Given the description of an element on the screen output the (x, y) to click on. 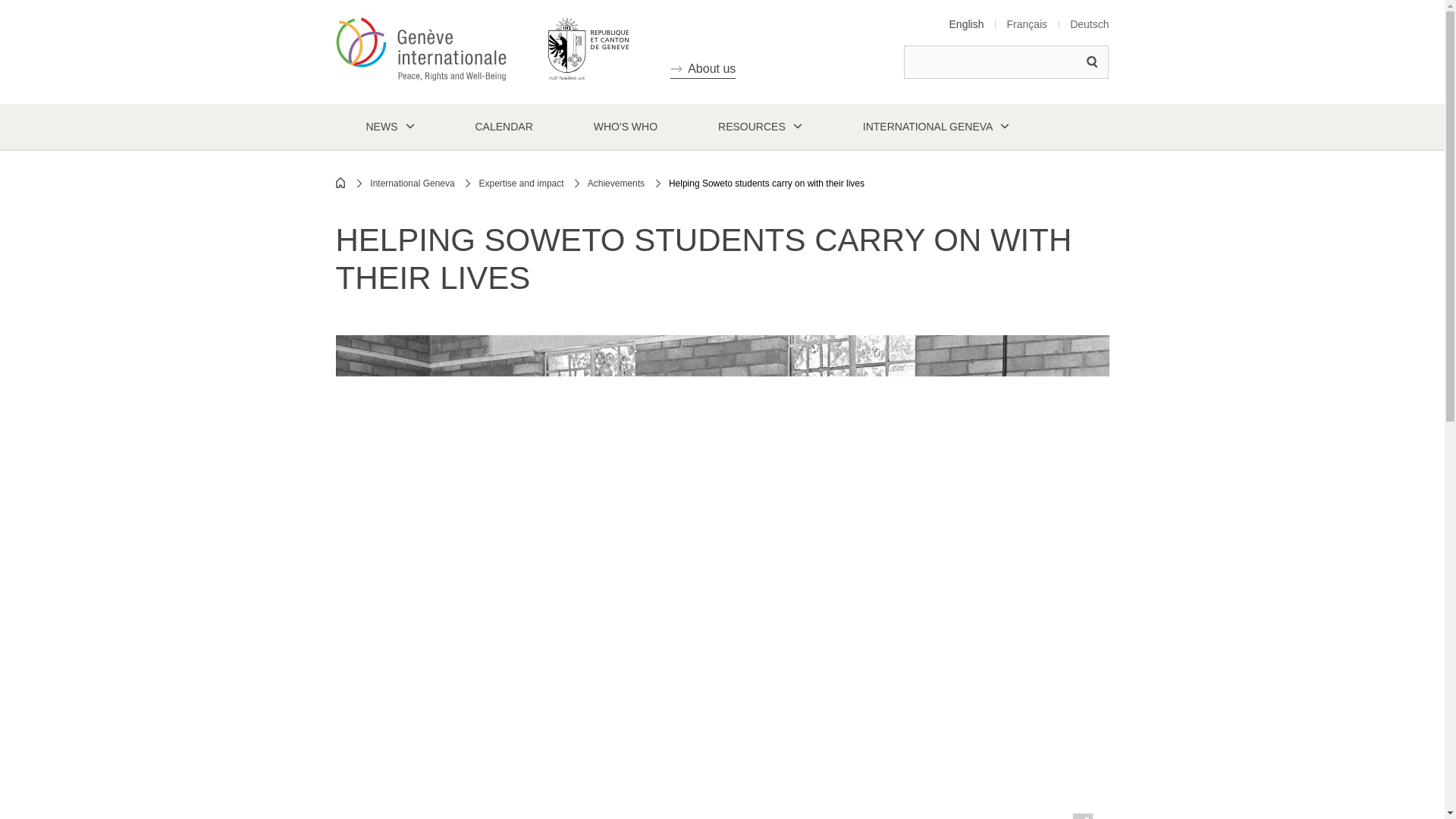
NEWS (389, 126)
English (966, 24)
RESOURCES (759, 126)
Search (1092, 62)
About us (702, 68)
WHO'S WHO (625, 126)
Enter the terms you wish to search for. (1006, 61)
INTERNATIONAL GENEVA (936, 126)
Deutsch (1089, 24)
CALENDAR (503, 126)
Search (1092, 62)
